Given the description of an element on the screen output the (x, y) to click on. 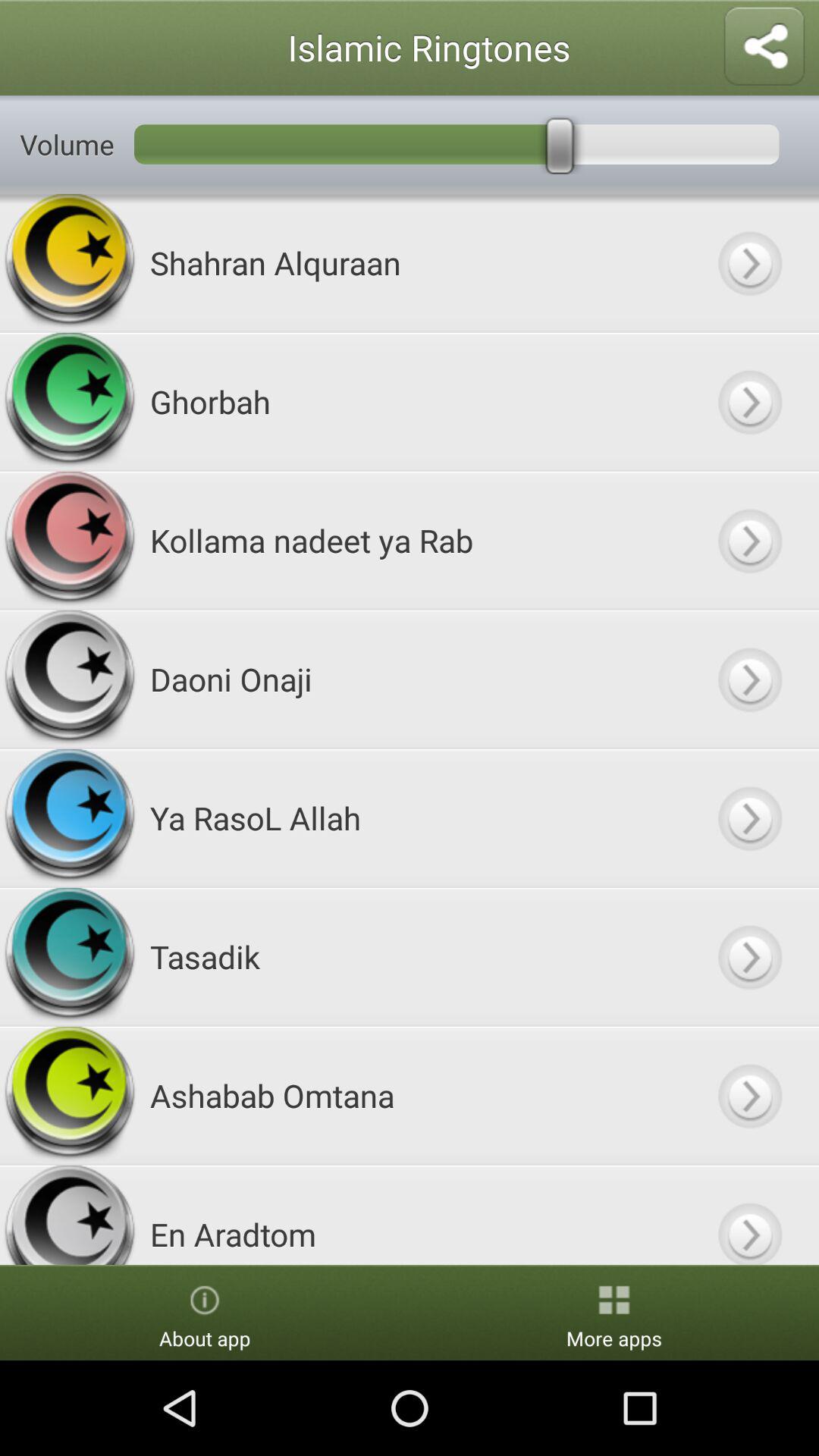
play a ringtone from ringtone list (749, 401)
